Given the description of an element on the screen output the (x, y) to click on. 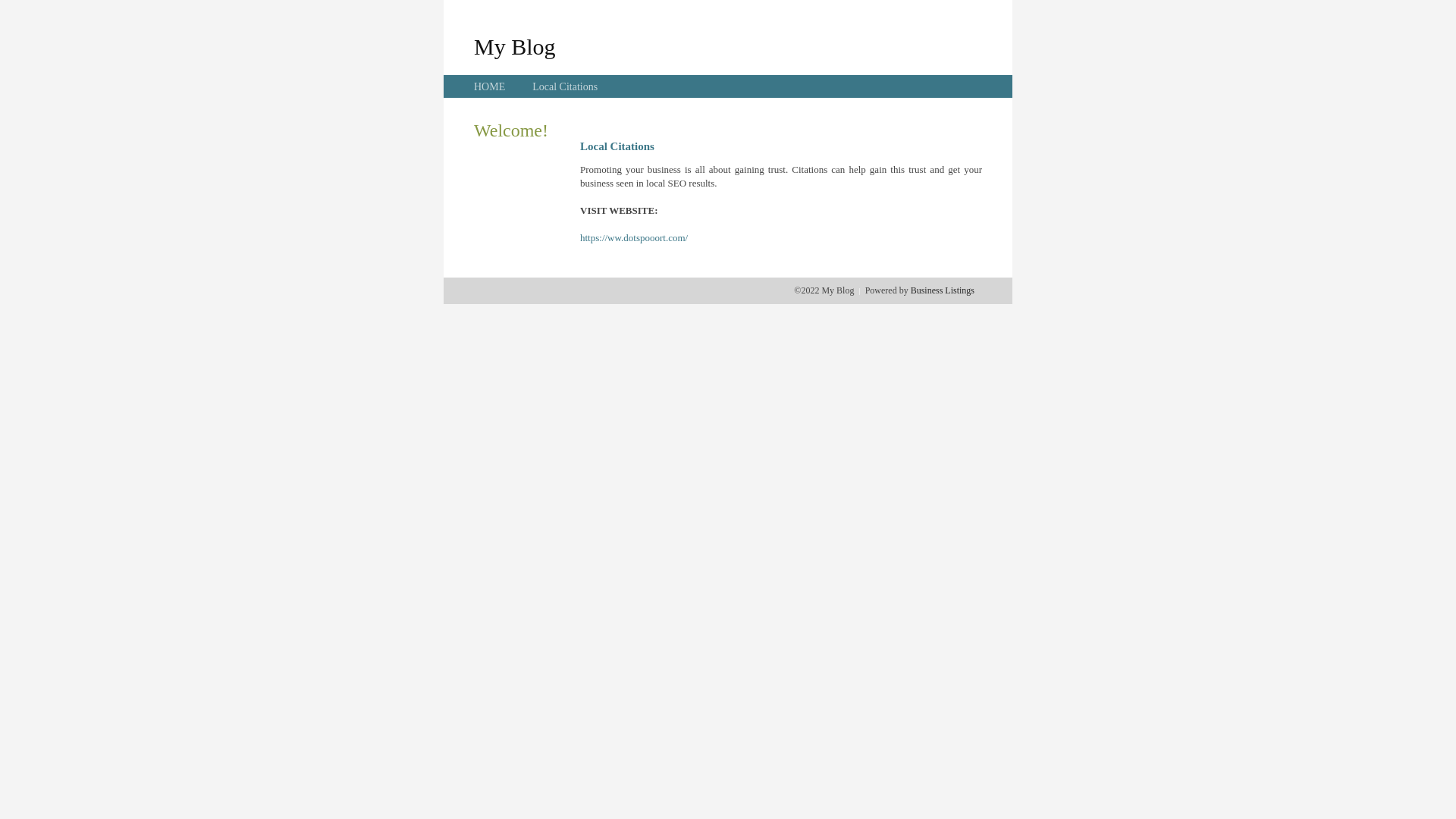
HOME Element type: text (489, 86)
Local Citations Element type: text (564, 86)
My Blog Element type: text (514, 46)
Business Listings Element type: text (942, 290)
https://ww.dotspooort.com/ Element type: text (633, 237)
